Given the description of an element on the screen output the (x, y) to click on. 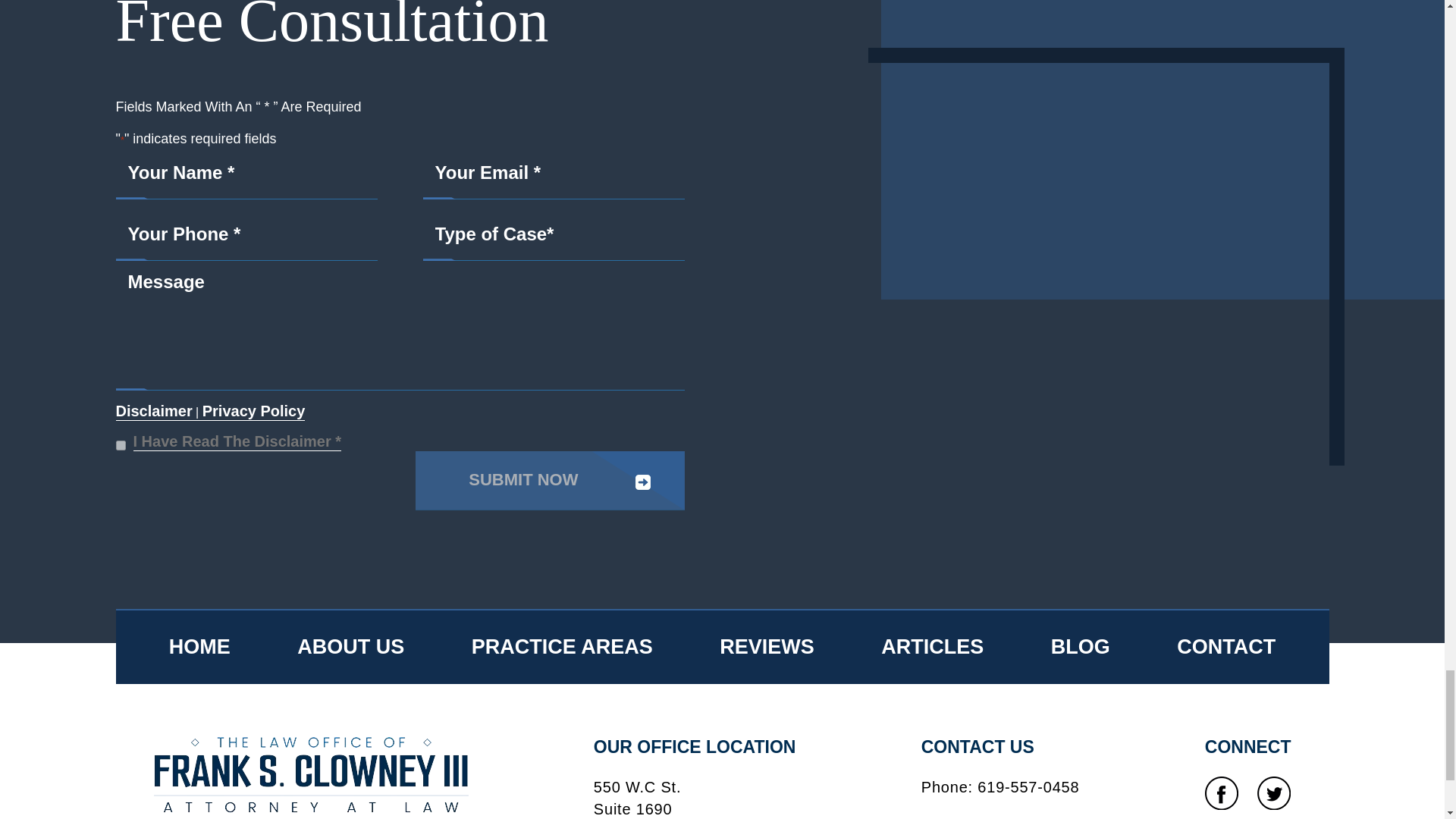
Submit Now (549, 480)
